Given the description of an element on the screen output the (x, y) to click on. 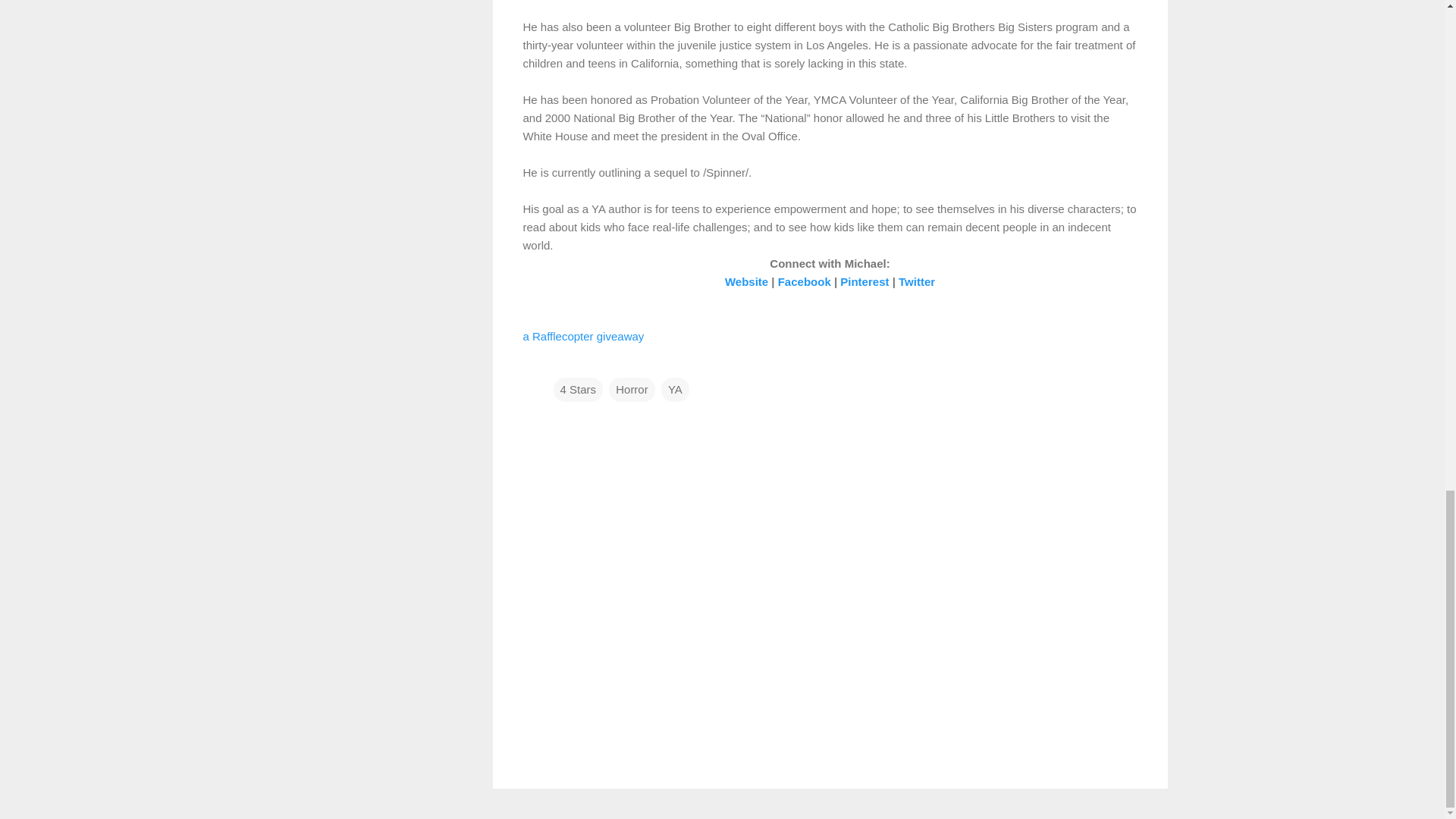
YA (674, 388)
Website (746, 281)
Twitter (916, 281)
Facebook (804, 281)
Horror (631, 388)
a Rafflecopter giveaway (583, 336)
Pinterest (864, 281)
4 Stars (578, 388)
